Given the description of an element on the screen output the (x, y) to click on. 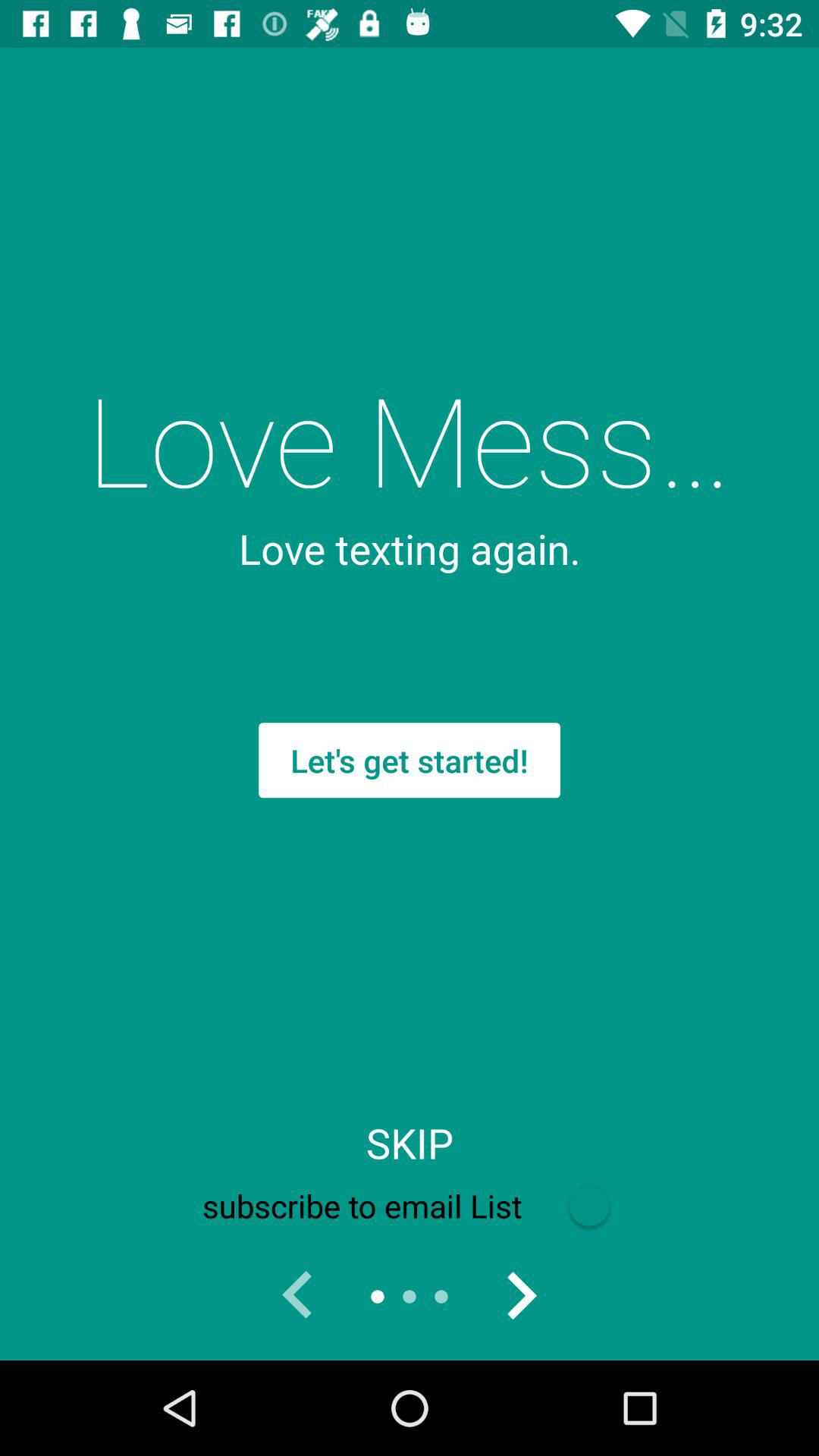
turn on the item below subscribe to email (297, 1296)
